Given the description of an element on the screen output the (x, y) to click on. 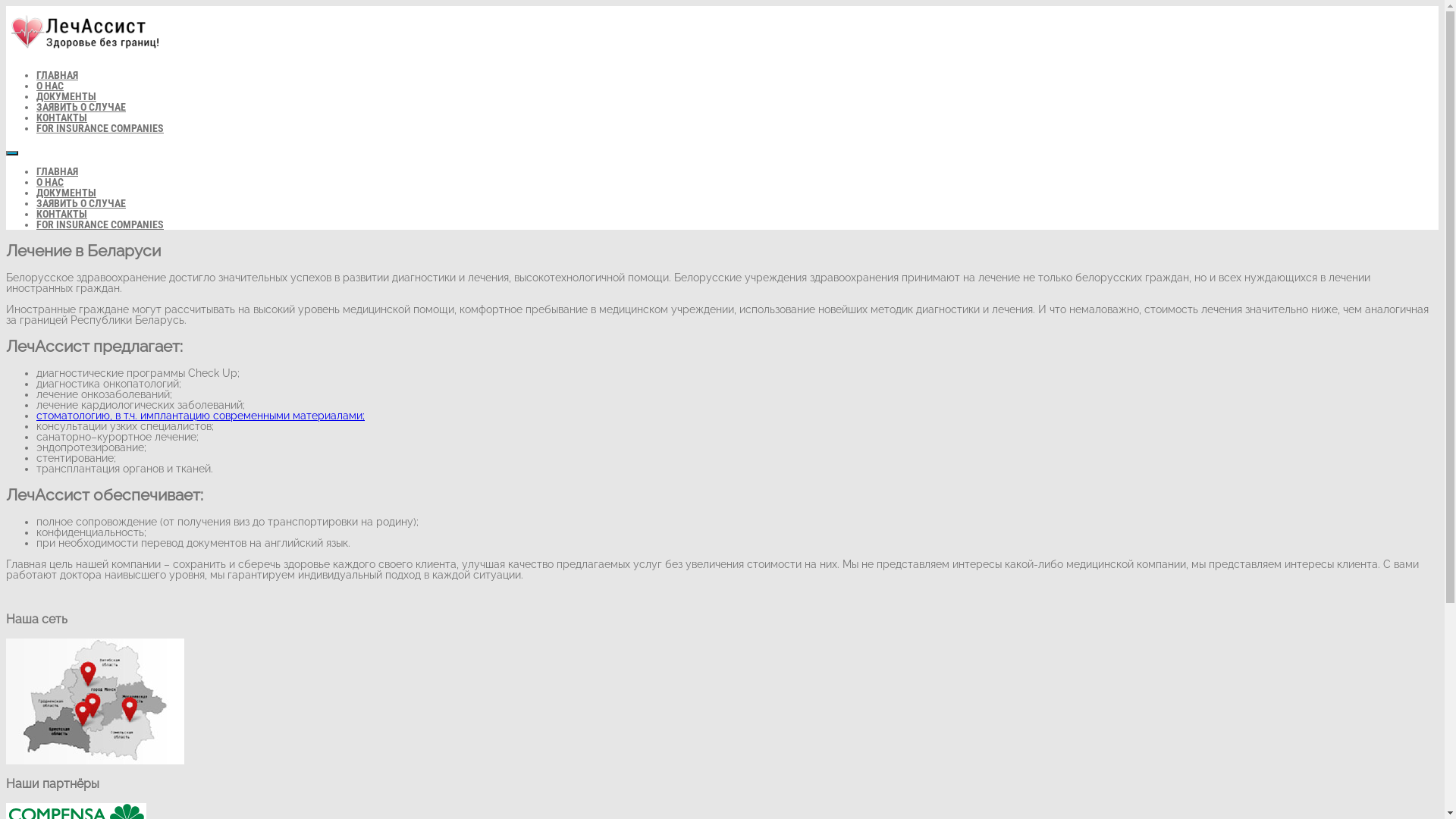
FOR INSURANCE COMPANIES Element type: text (99, 128)
FOR INSURANCE COMPANIES Element type: text (99, 224)
